Given the description of an element on the screen output the (x, y) to click on. 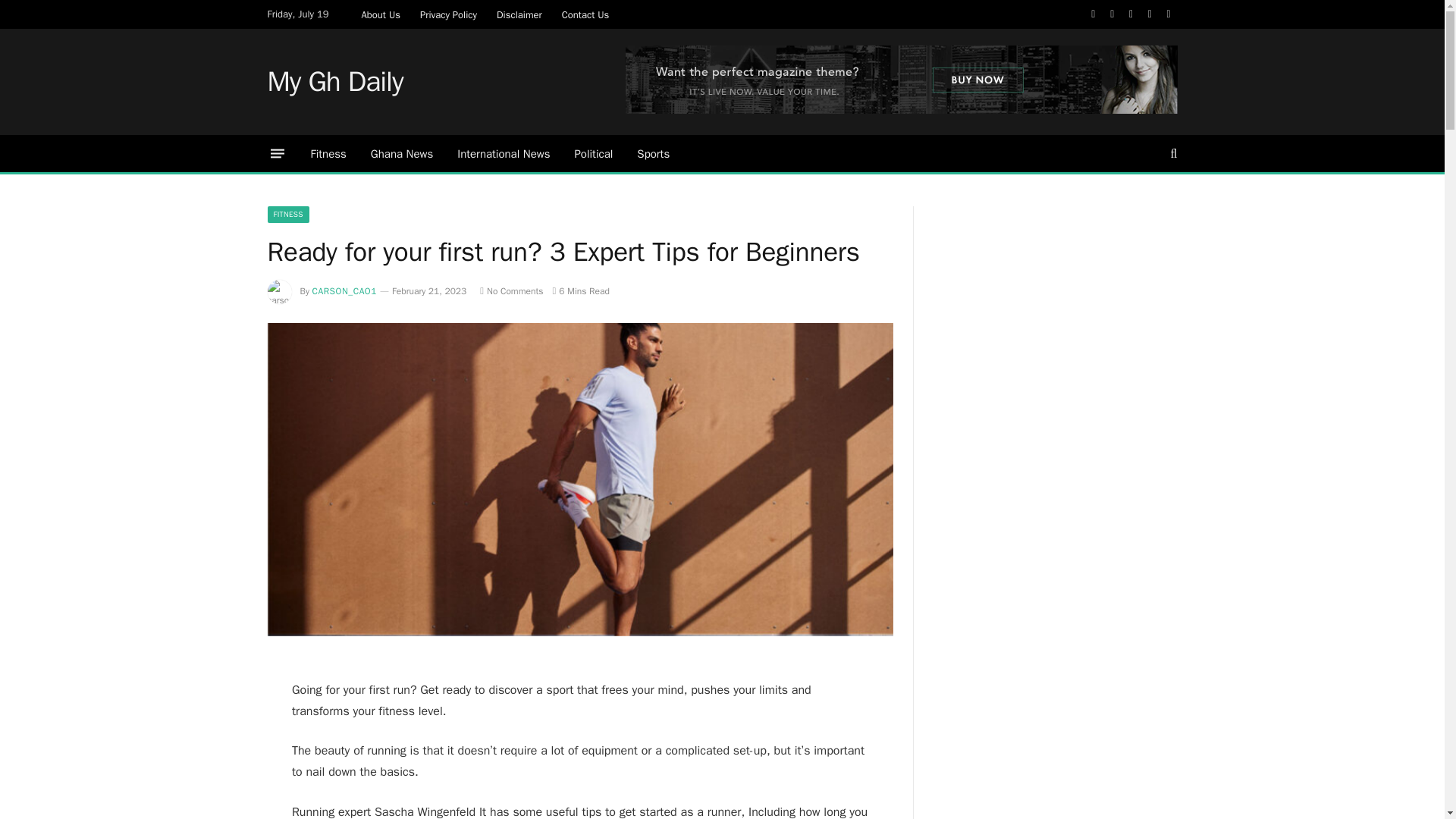
Political (593, 153)
No Comments (511, 291)
Contact Us (585, 14)
About Us (381, 14)
Fitness (328, 153)
International News (503, 153)
Ghana News (401, 153)
Disclaimer (518, 14)
My Gh Daily  (334, 81)
My Gh Daily (334, 81)
FITNESS (287, 214)
Sports (652, 153)
Privacy Policy (448, 14)
